Given the description of an element on the screen output the (x, y) to click on. 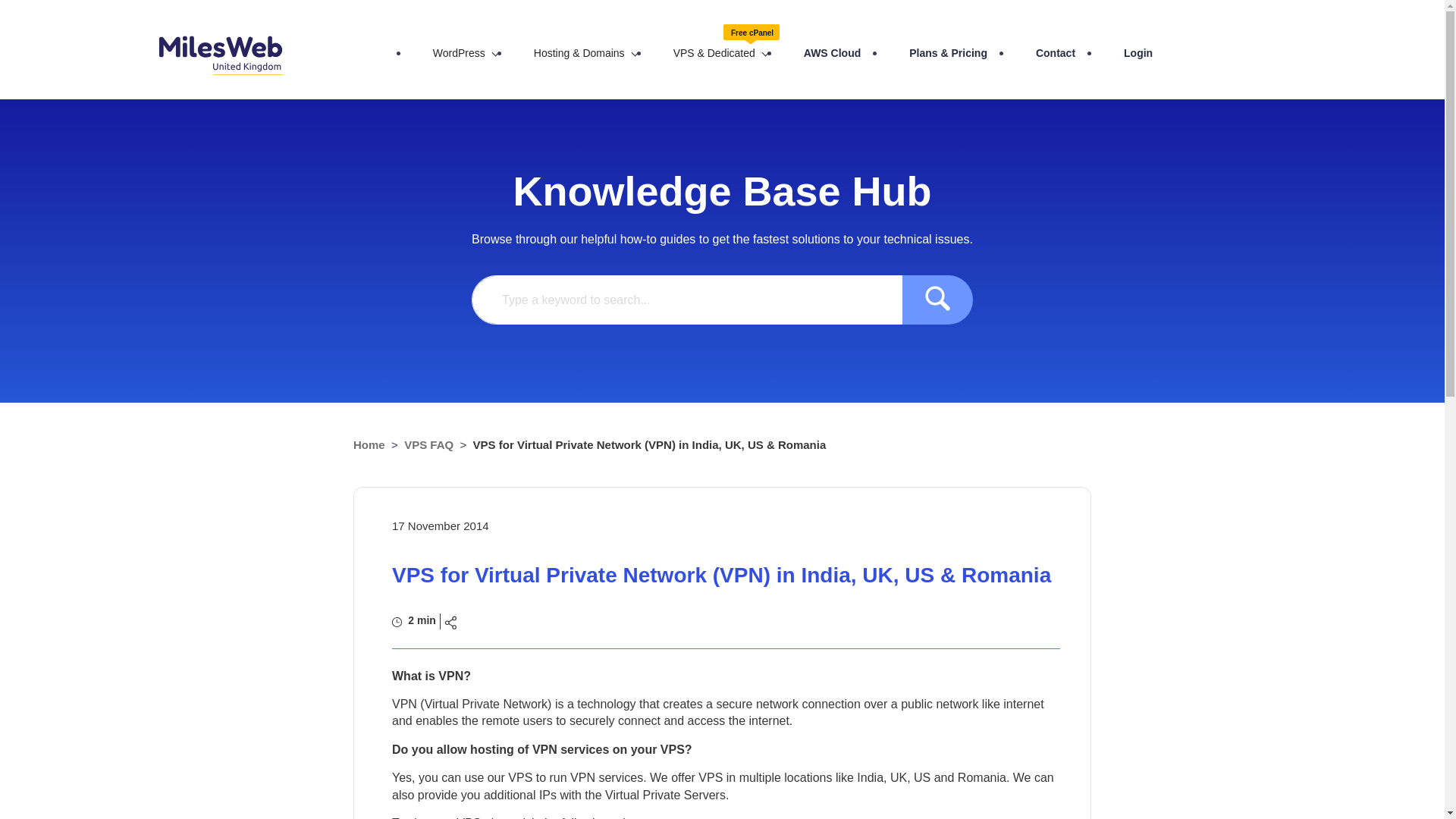
AWS Cloud (831, 52)
Search (937, 299)
VPS FAQ (428, 444)
Free cPanel (750, 34)
Login (1138, 52)
Home (369, 444)
Contact (1055, 52)
